Given the description of an element on the screen output the (x, y) to click on. 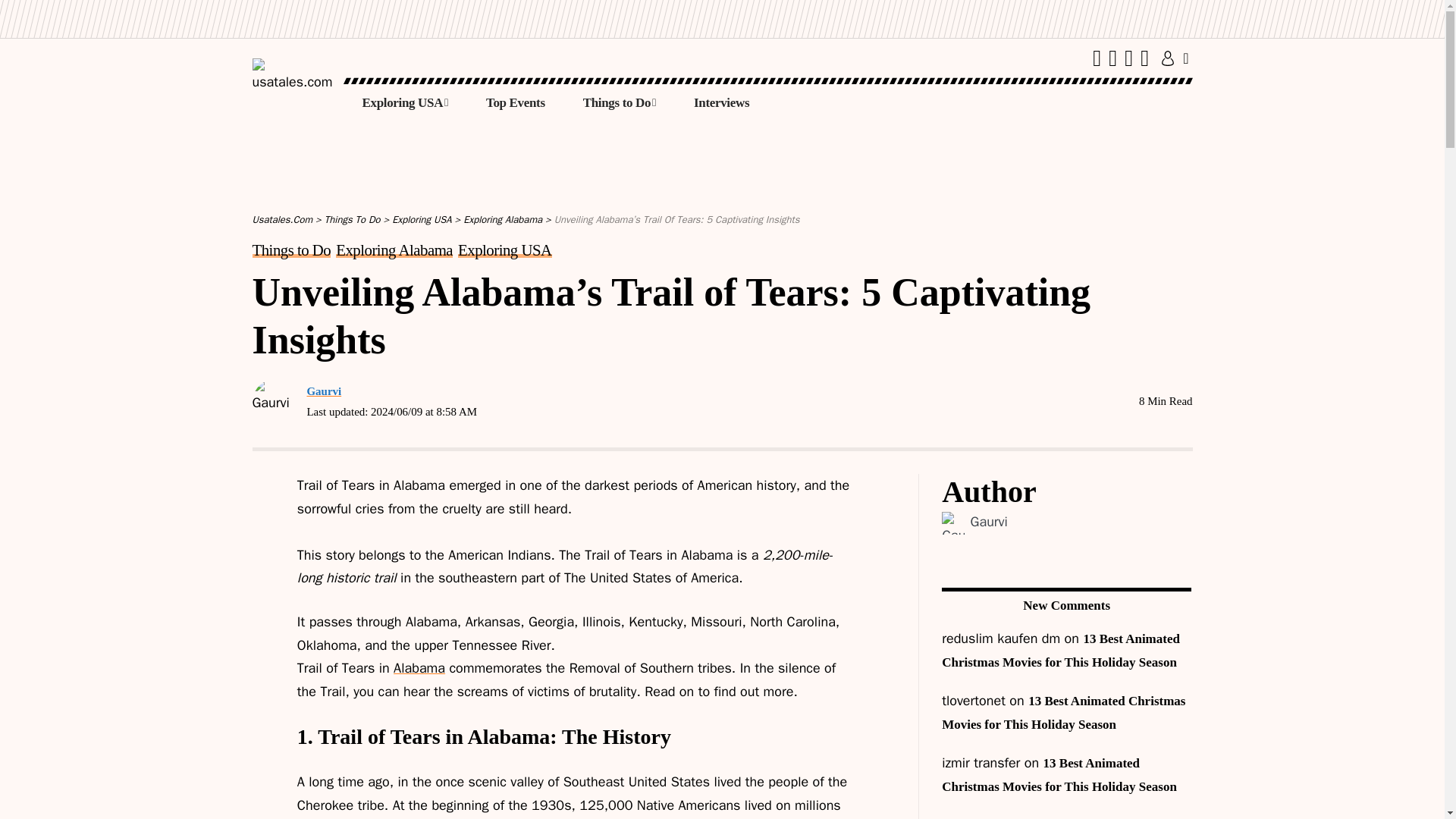
Go to the Exploring USA Category archives. (421, 219)
Exploring USA (404, 103)
Go to usatales.com. (282, 219)
Go to the Exploring Alabama Category archives. (502, 219)
Go to the Things to Do Category archives. (352, 219)
Gaurvi (989, 521)
